Given the description of an element on the screen output the (x, y) to click on. 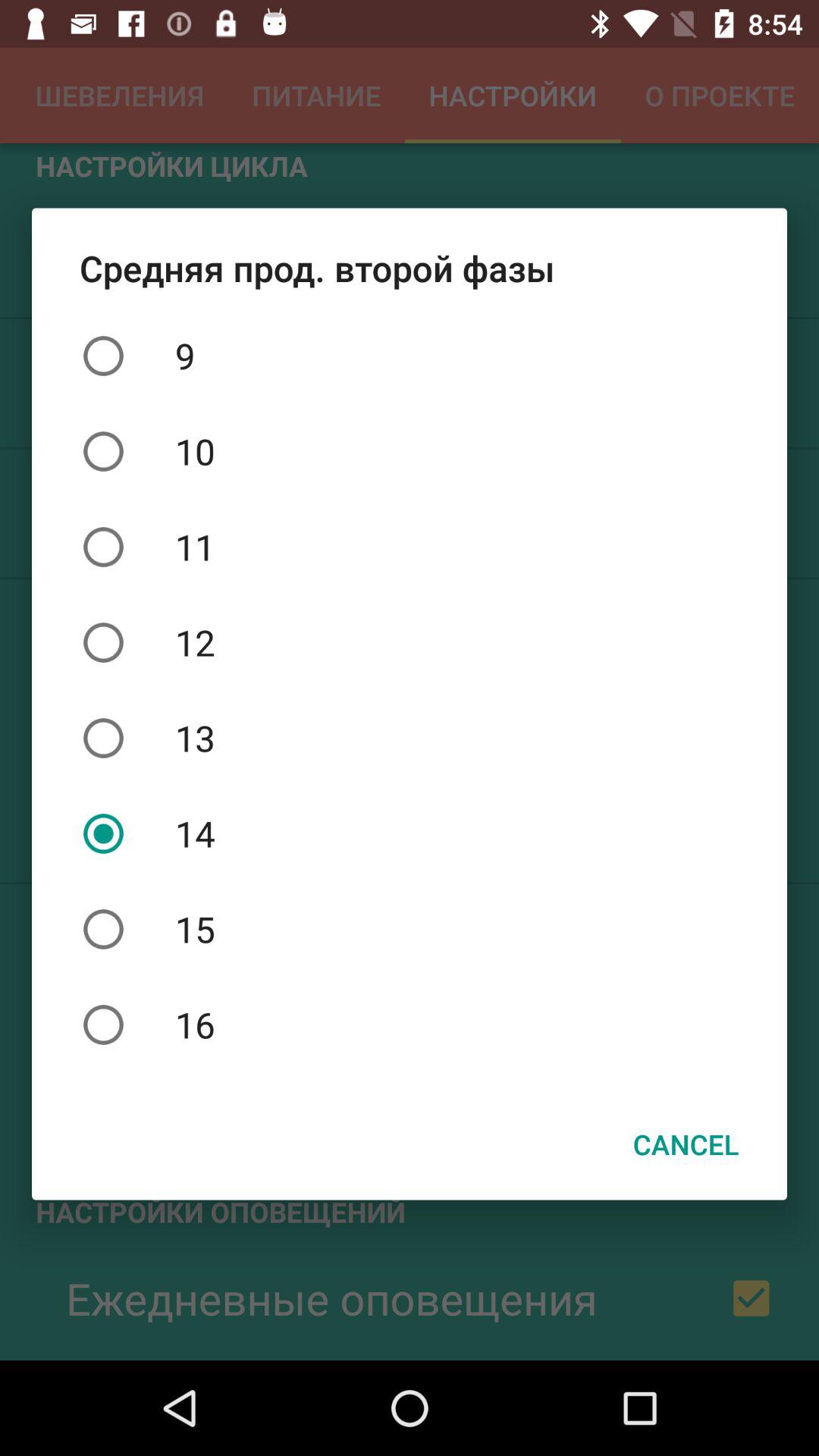
tap icon below the 9 icon (409, 451)
